Given the description of an element on the screen output the (x, y) to click on. 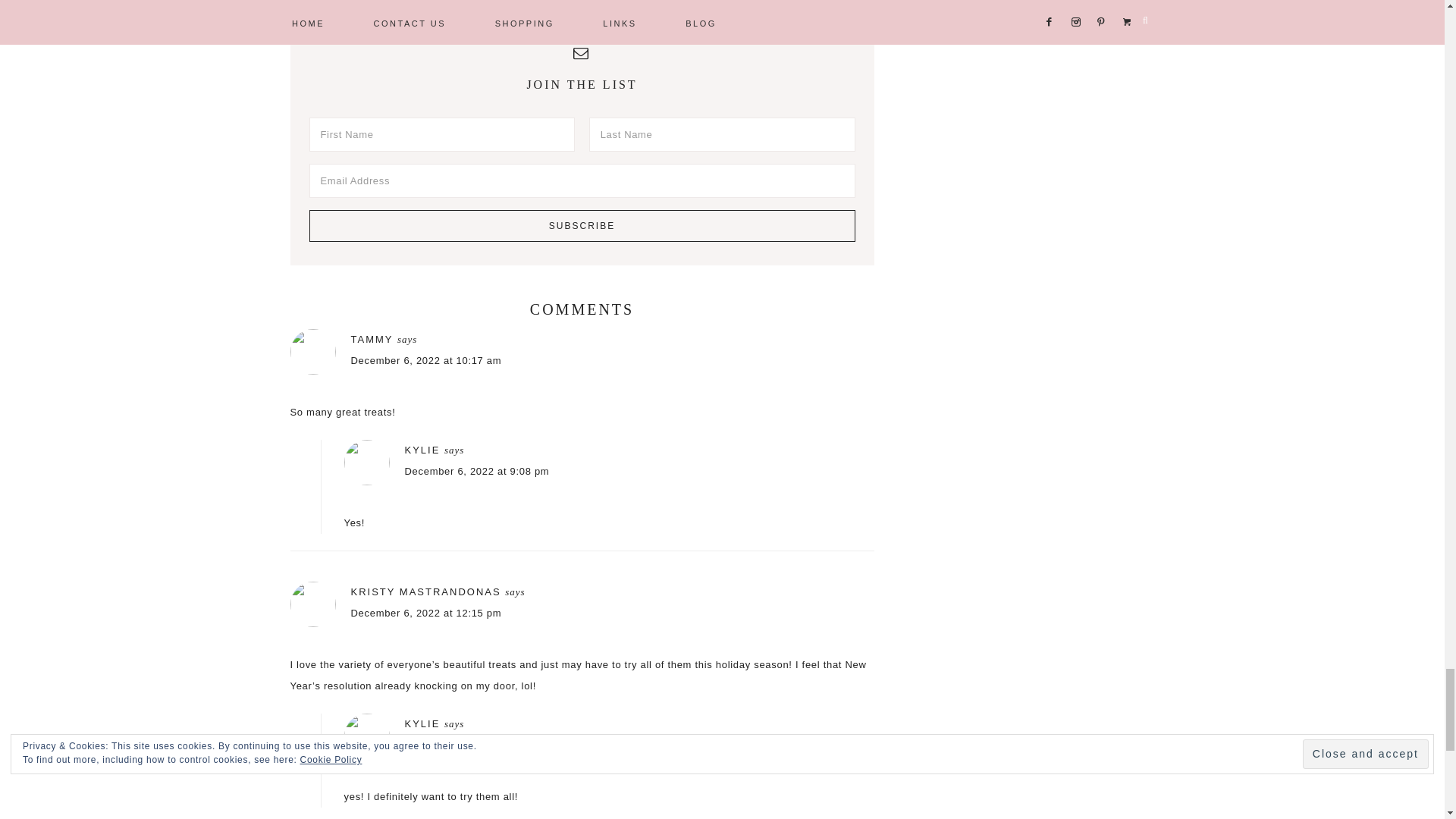
Subscribe (582, 225)
